Given the description of an element on the screen output the (x, y) to click on. 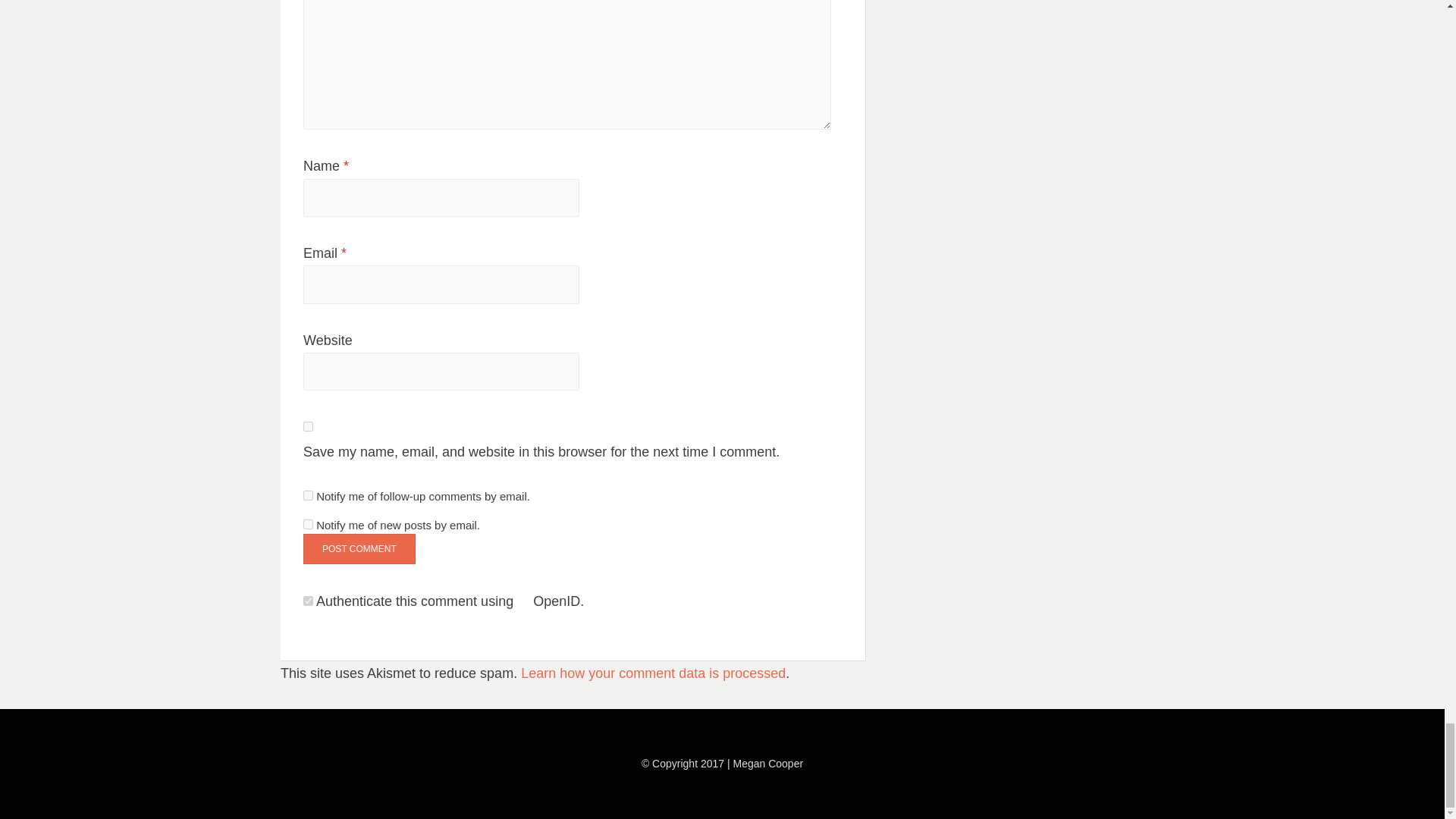
on (307, 601)
WordPress (511, 784)
SimpleFreeThemes (388, 784)
subscribe (307, 495)
Post Comment (358, 548)
subscribe (307, 524)
yes (307, 426)
